Given the description of an element on the screen output the (x, y) to click on. 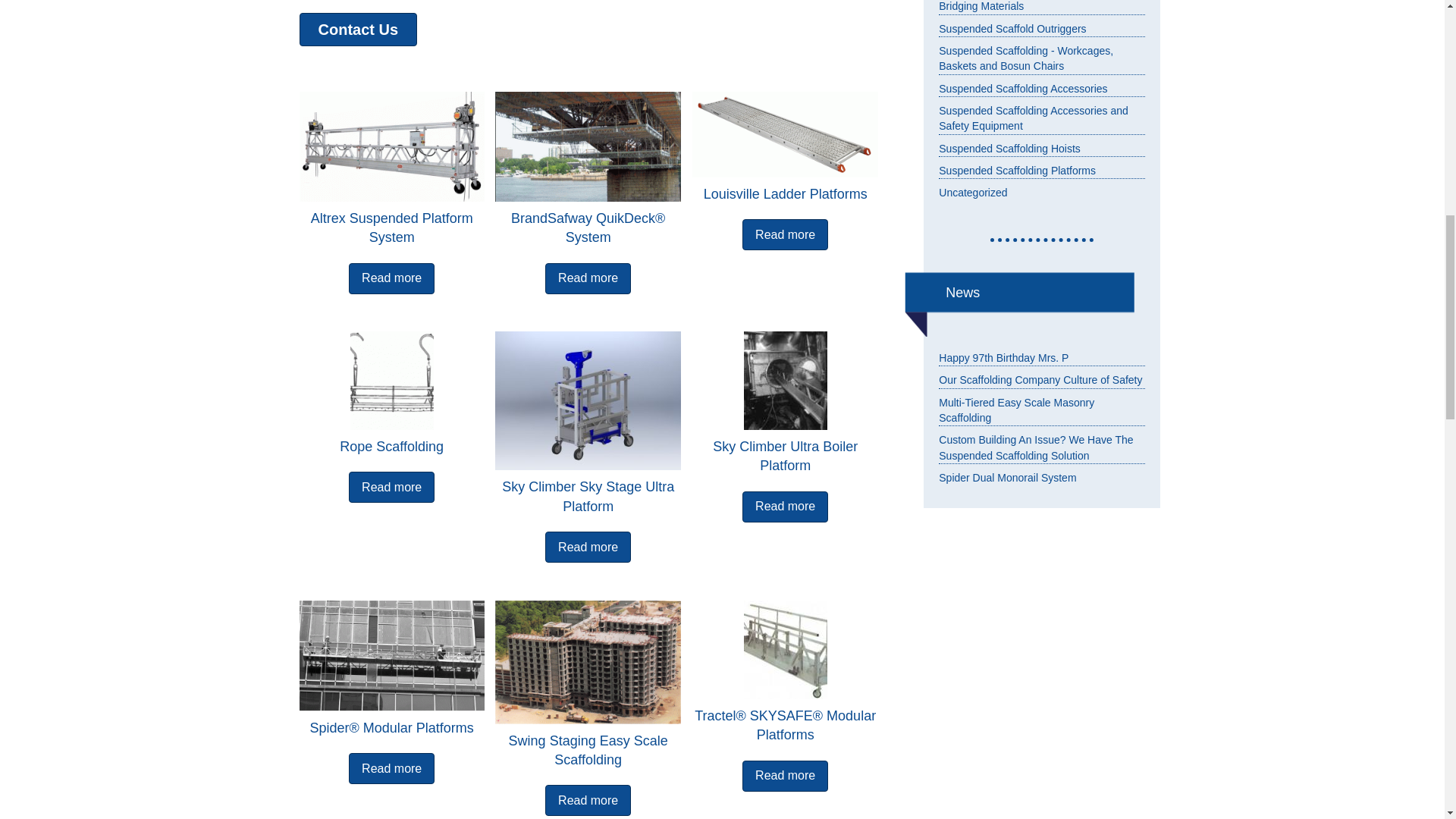
Louisville Ladder Platforms (785, 133)
Louisville Ladder Platforms (785, 193)
Sky Climber Ultra Boiler Platform (785, 380)
Sky Climber Ultra Boiler Platform (785, 455)
Rope Scaffolding (391, 446)
Altrex Suspended Platform System (390, 146)
Altrex Suspended Platform System (392, 227)
Rope Scaffolding (390, 380)
Sky Climber Sky Stage Ultra Platform (587, 400)
Sky Climber Sky Stage Ultra Platform (588, 496)
